Given the description of an element on the screen output the (x, y) to click on. 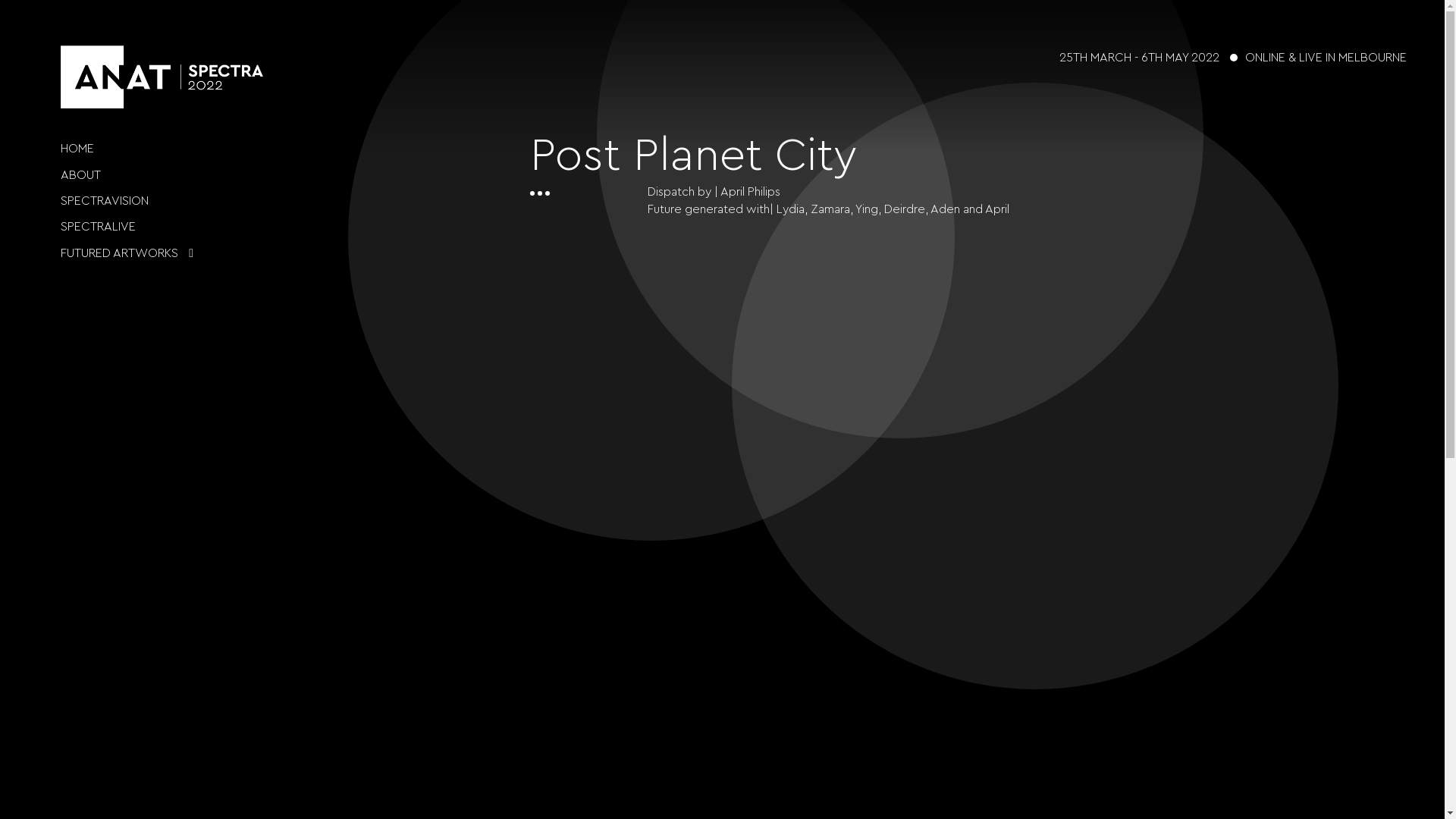
FUTURED ARTWORKS Element type: text (119, 253)
SPECTRALIVE Element type: text (97, 226)
ABOUT Element type: text (80, 175)
SPECTRAVISION Element type: text (104, 200)
HOME Element type: text (77, 148)
